Given the description of an element on the screen output the (x, y) to click on. 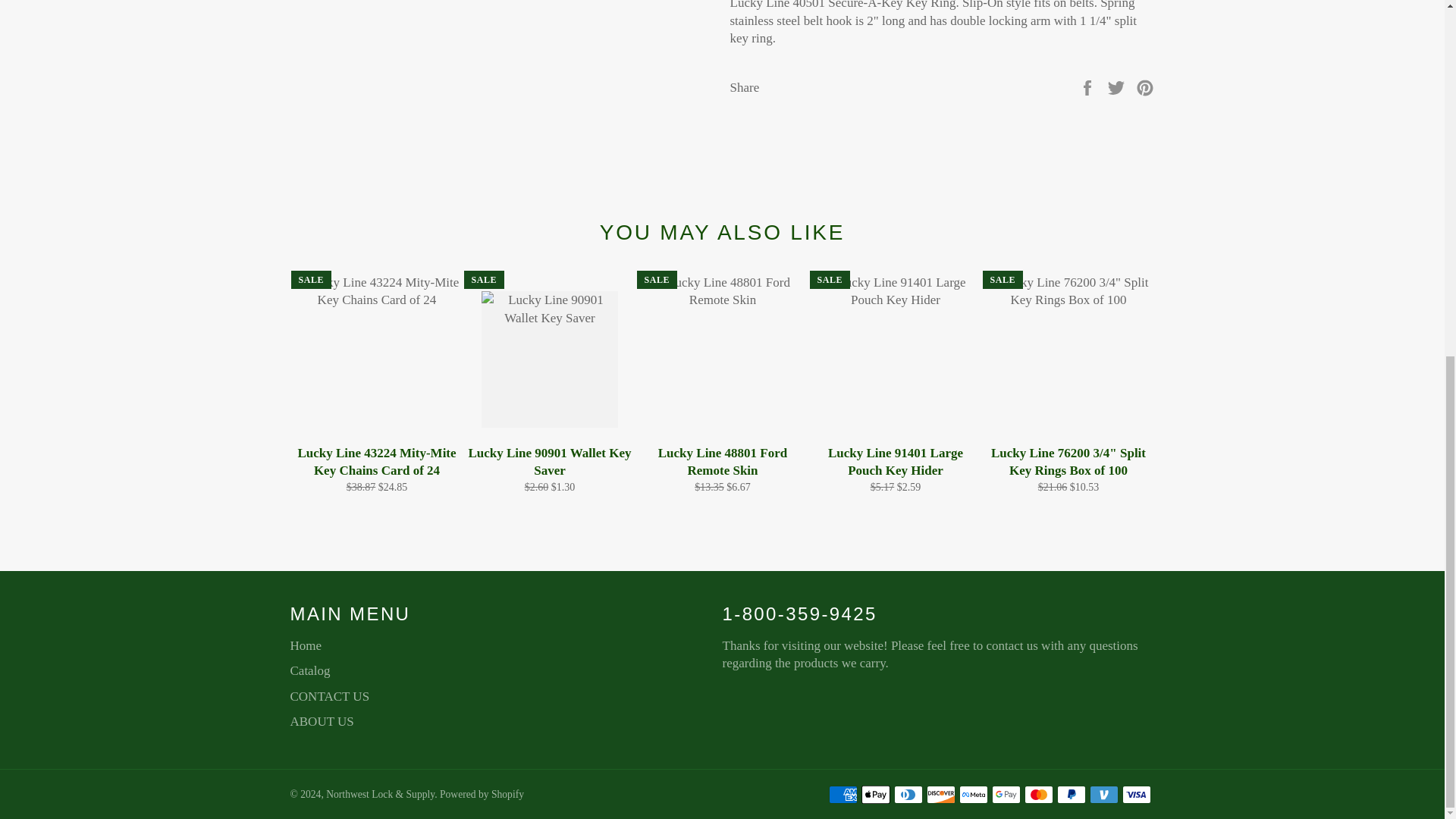
Share on Facebook (1088, 86)
ABOUT US (321, 721)
CONTACT US (329, 696)
Pin on Pinterest (1144, 86)
Tweet on Twitter (1117, 86)
Catalog (309, 670)
Powered by Shopify (481, 794)
Share on Facebook (1088, 86)
Tweet on Twitter (1117, 86)
Home (305, 645)
